Given the description of an element on the screen output the (x, y) to click on. 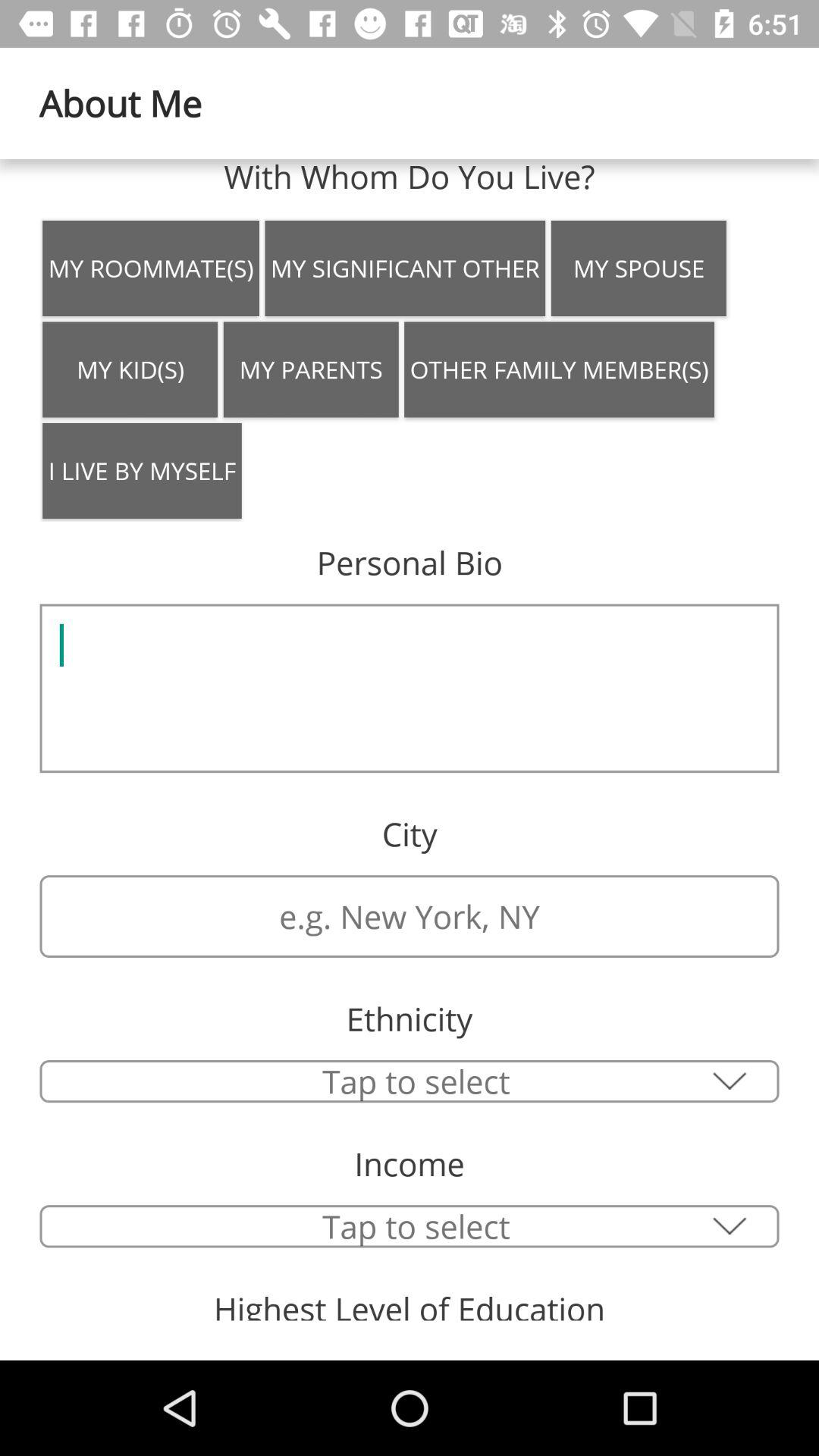
tap to select (409, 1226)
